Given the description of an element on the screen output the (x, y) to click on. 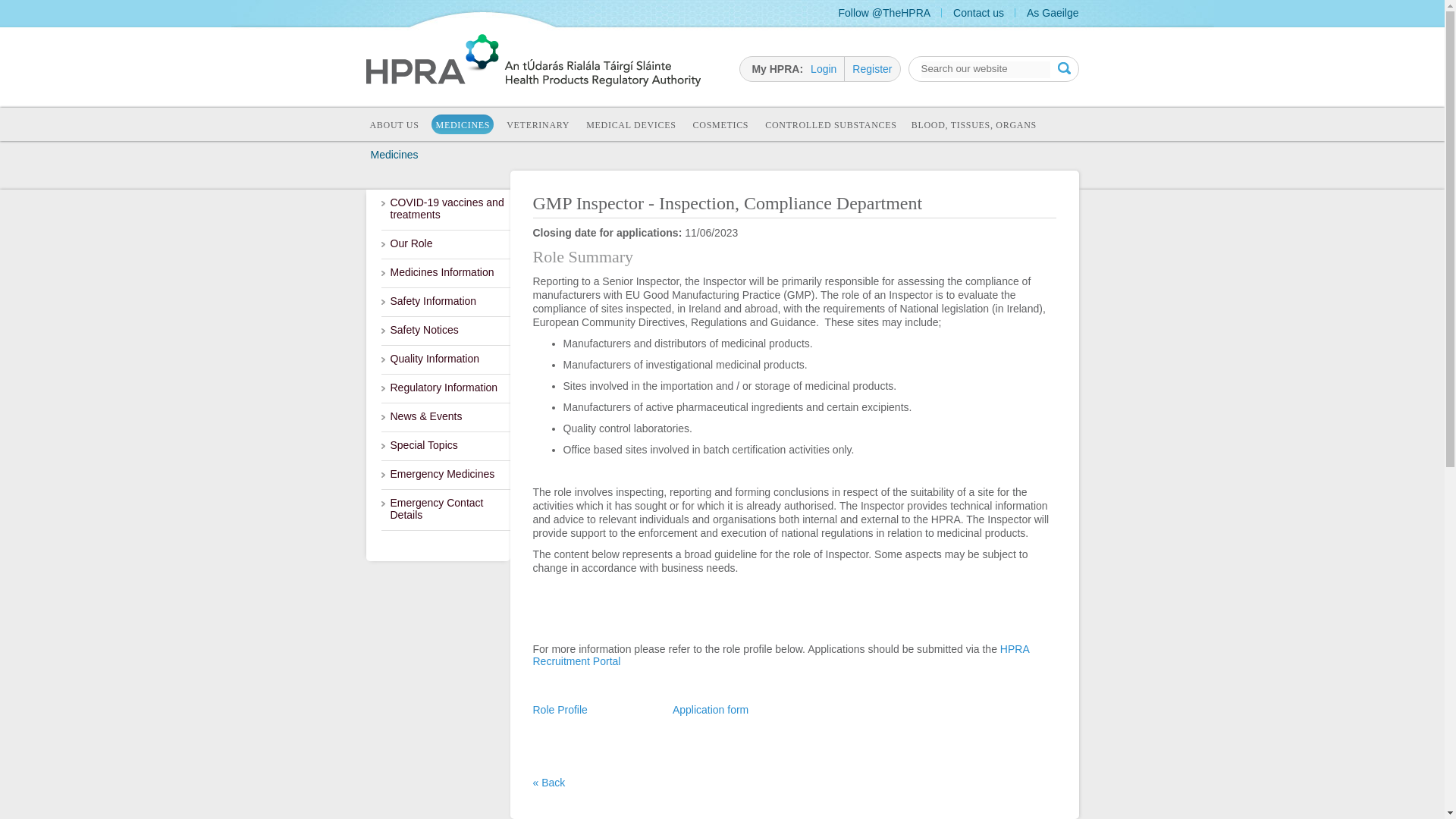
Regulatory Information (444, 388)
Go to Homepage of the website (532, 82)
Our Role (444, 244)
About Us (394, 125)
Regulatory Information (444, 388)
Medicines (462, 124)
COVID-19 vaccines and treatments (444, 209)
Contact us (978, 12)
Safety Information (444, 302)
Our Role (444, 244)
